Given the description of an element on the screen output the (x, y) to click on. 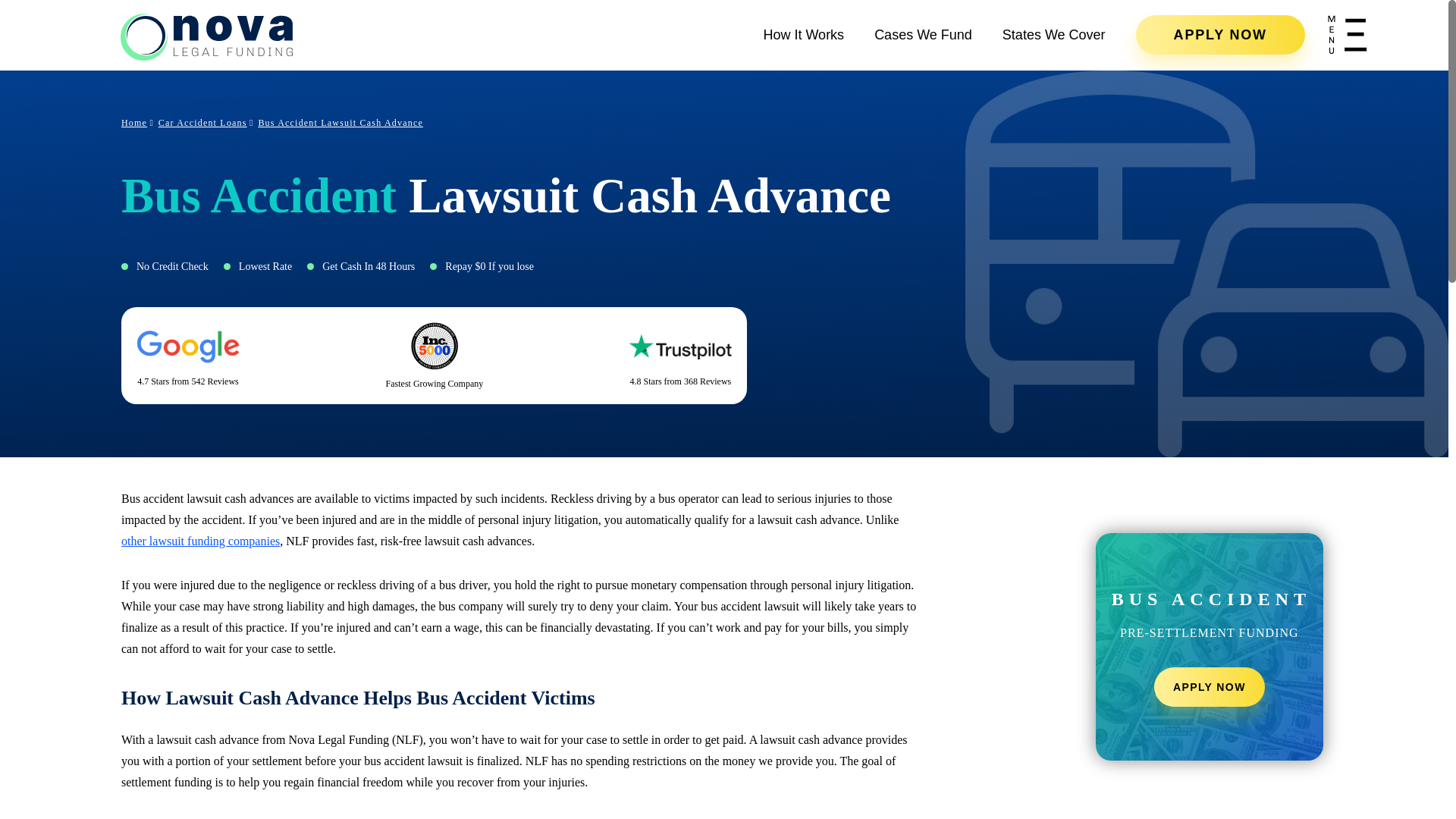
How It Works (803, 34)
States We Cover (1054, 34)
APPLY NOW (1219, 34)
Cases We Fund (923, 34)
